Given the description of an element on the screen output the (x, y) to click on. 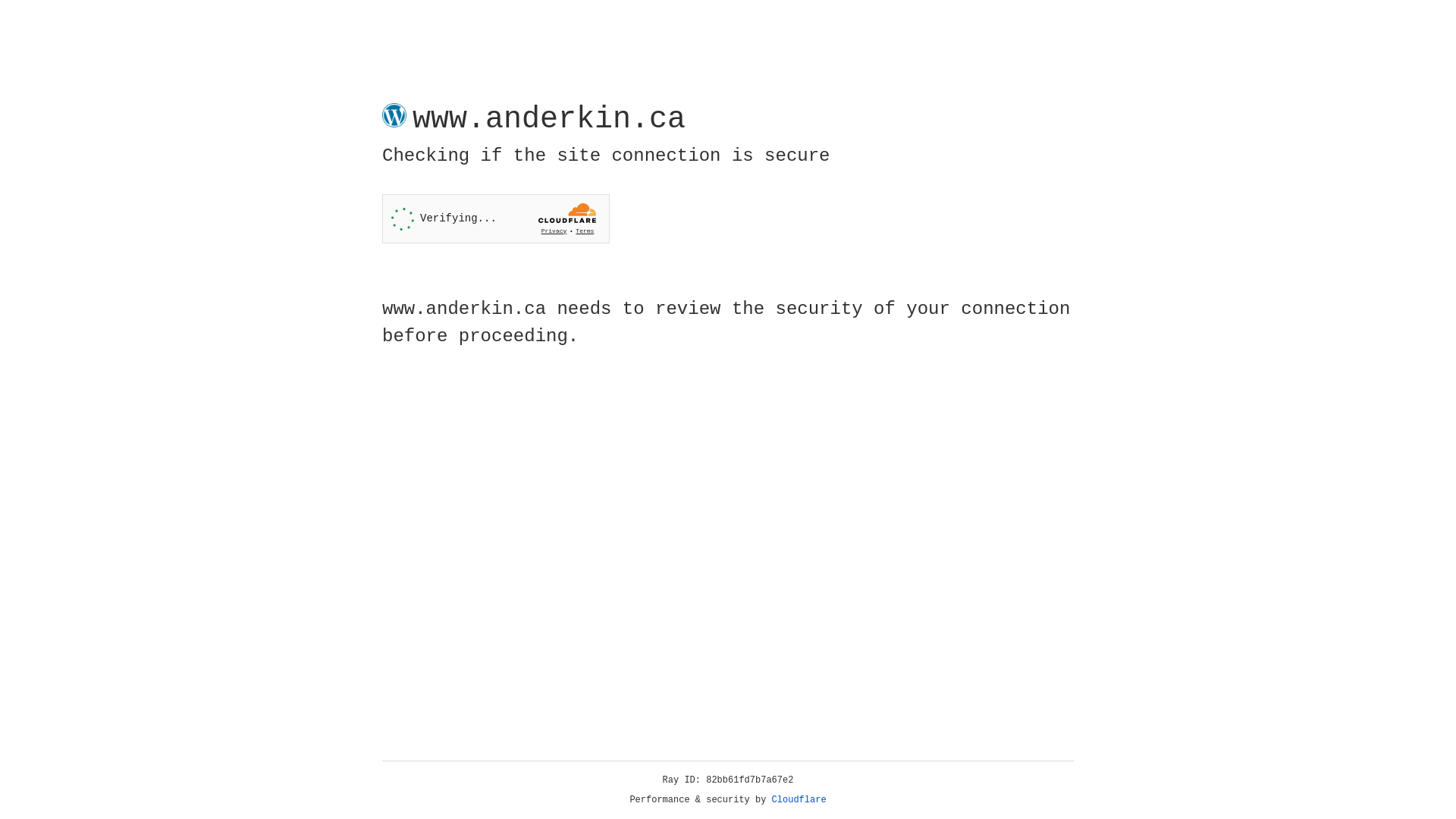
Widget containing a Cloudflare security challenge Element type: hover (495, 218)
Cloudflare Element type: text (798, 799)
